Given the description of an element on the screen output the (x, y) to click on. 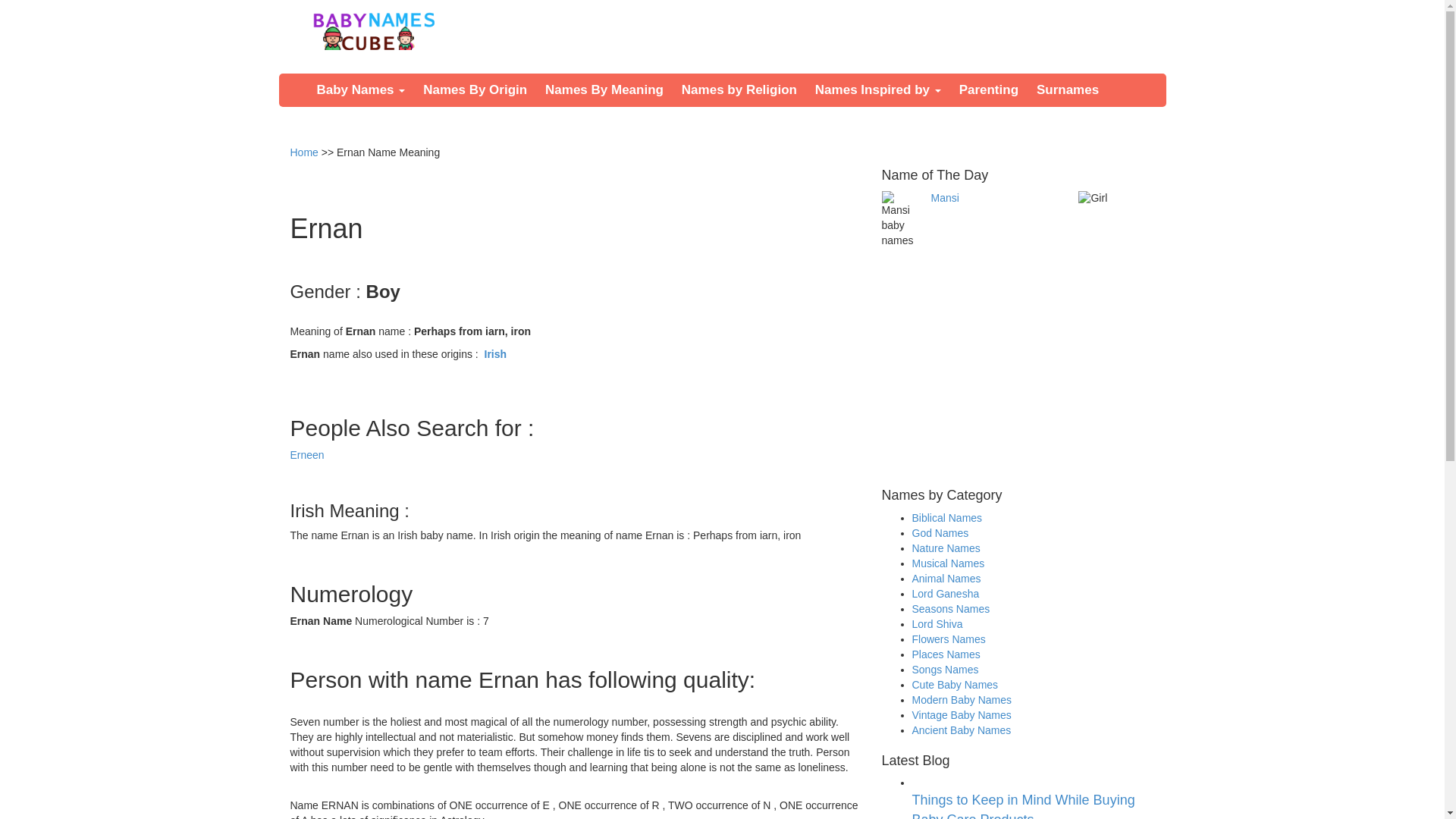
Baby Names (360, 90)
Home (303, 152)
Parenting (989, 90)
Names By Origin (474, 90)
Baby Names and Meanings (373, 30)
Surnames (1067, 90)
Erneen (306, 454)
Names By Meaning (604, 90)
Names by Religion (739, 90)
Irish (495, 354)
